Given the description of an element on the screen output the (x, y) to click on. 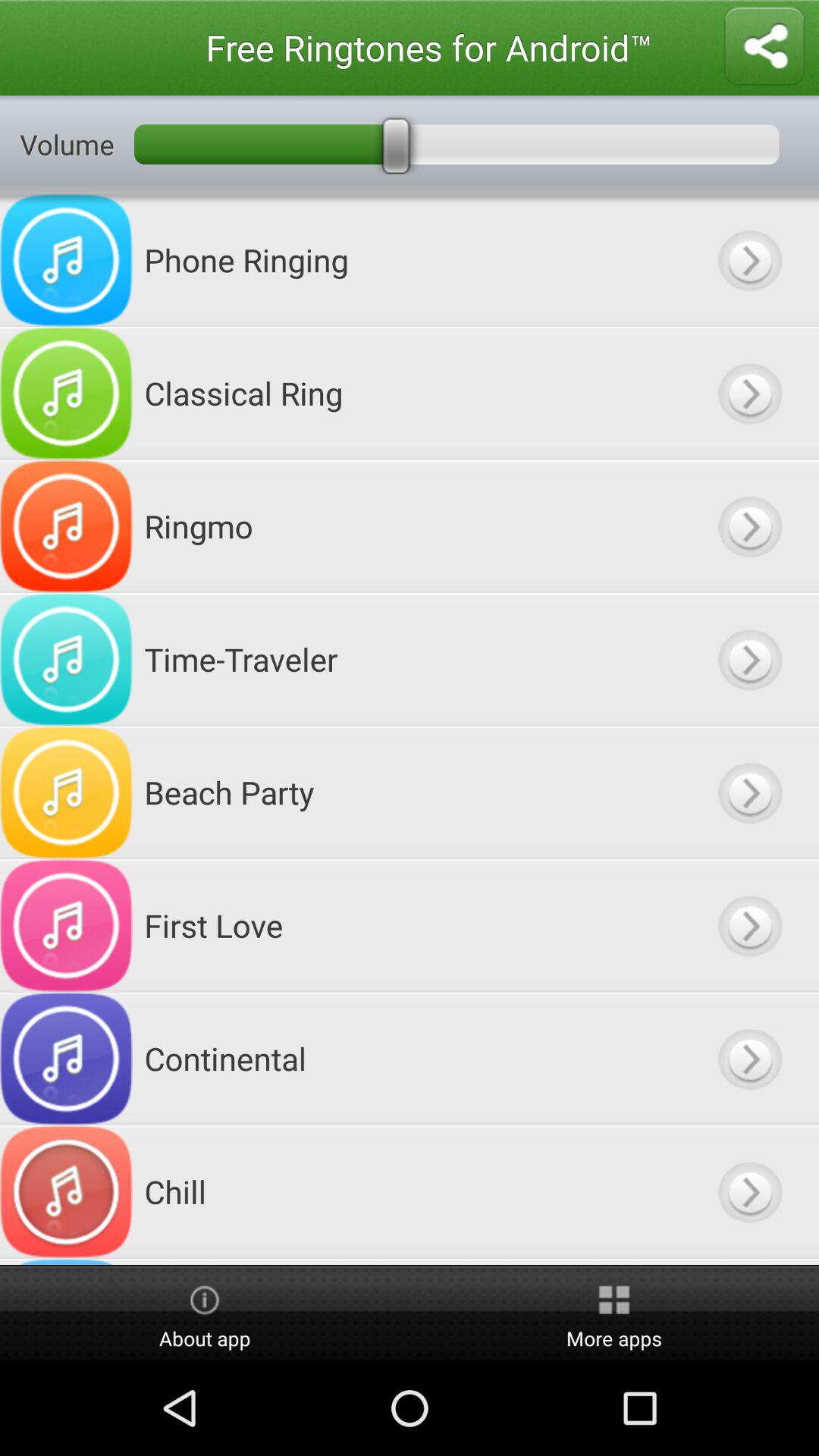
go to music (749, 792)
